Given the description of an element on the screen output the (x, y) to click on. 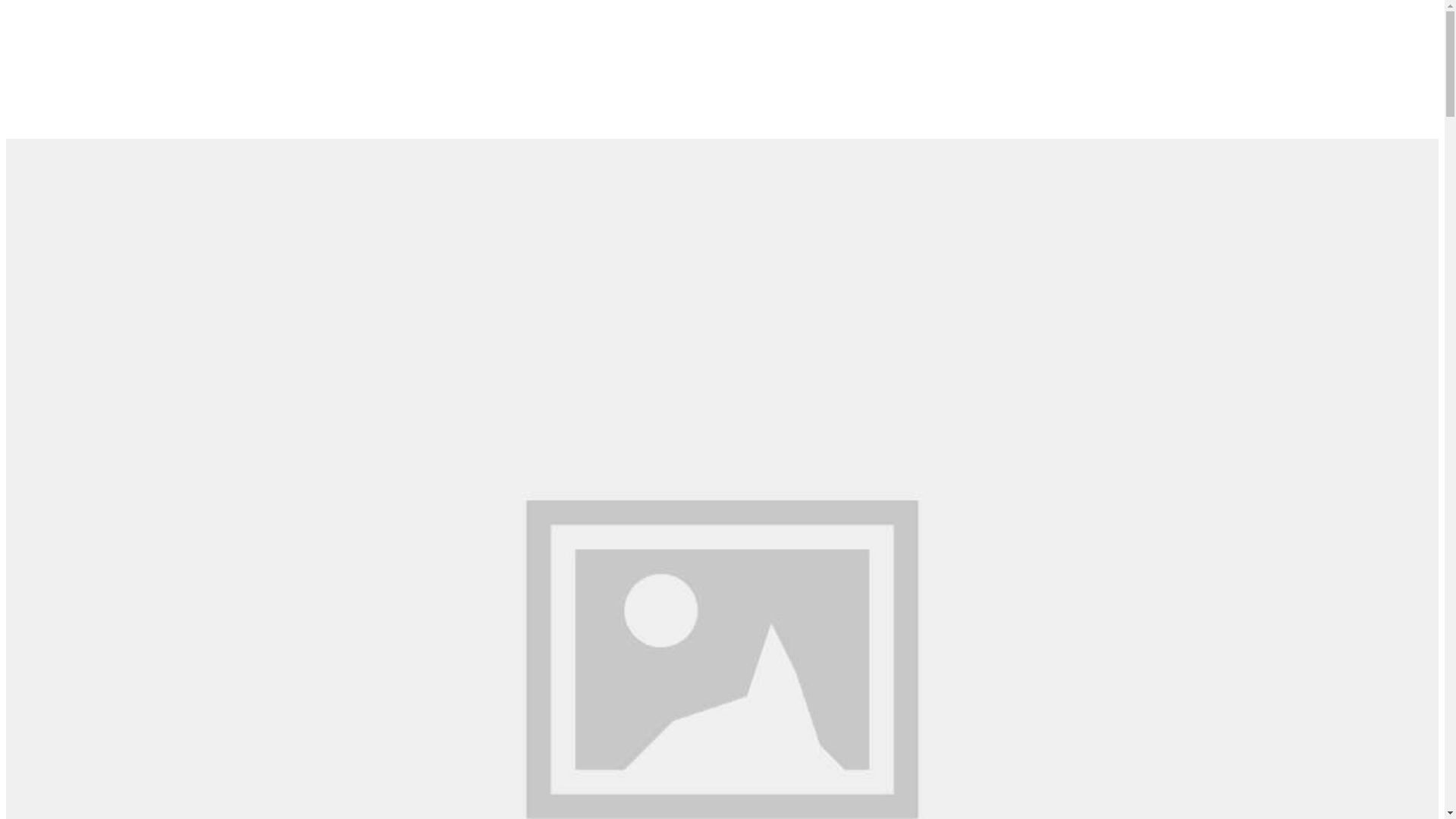
events@comiccon.group Element type: text (755, 108)
